Given the description of an element on the screen output the (x, y) to click on. 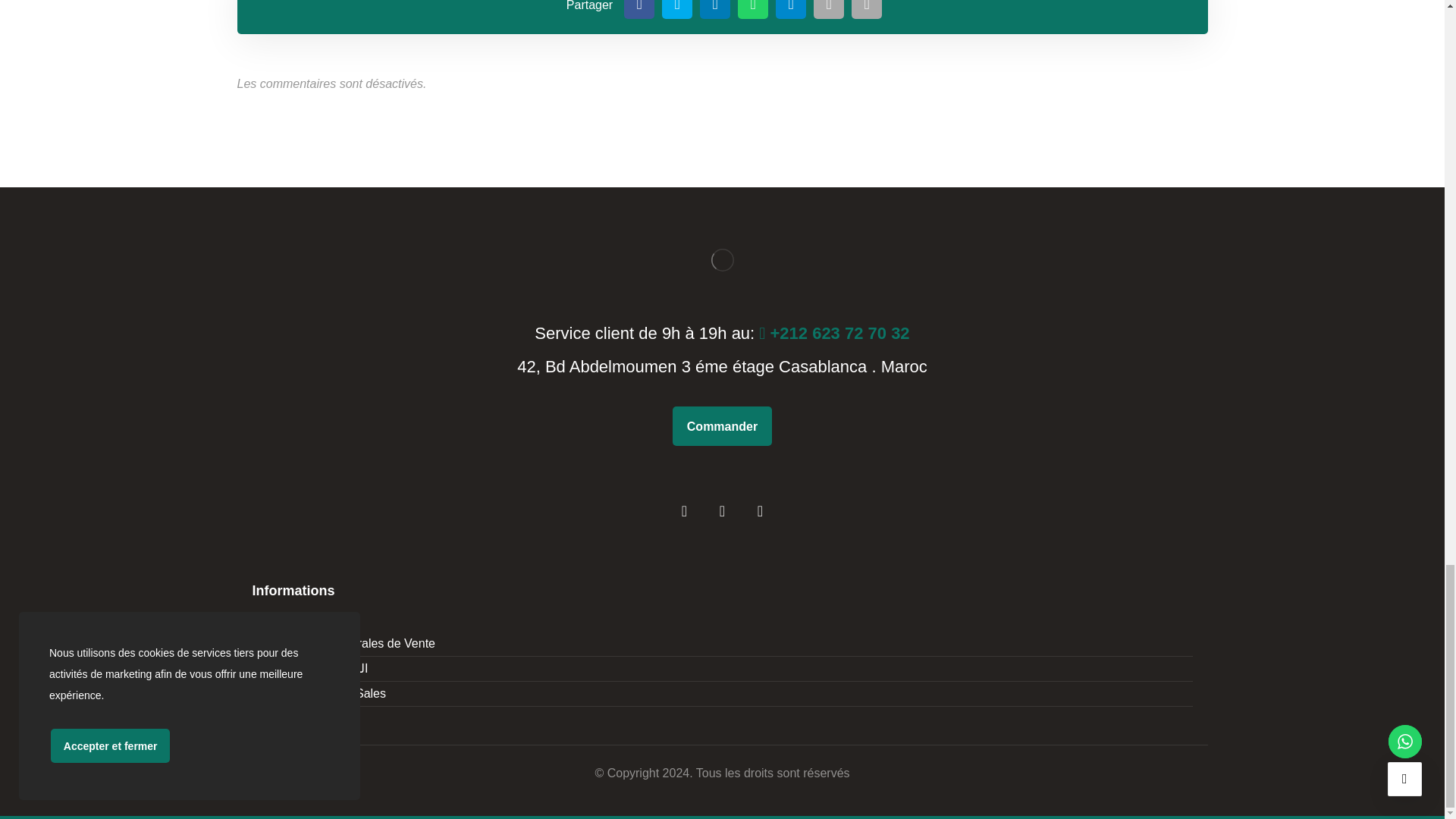
Share by Whatsapp (753, 9)
Share by Email (828, 9)
Share on Facebook (638, 9)
Share on Twitter (677, 9)
Copy  Shortlink (866, 9)
Share by Telegram (791, 9)
Share on Linkedin (715, 9)
